Given the description of an element on the screen output the (x, y) to click on. 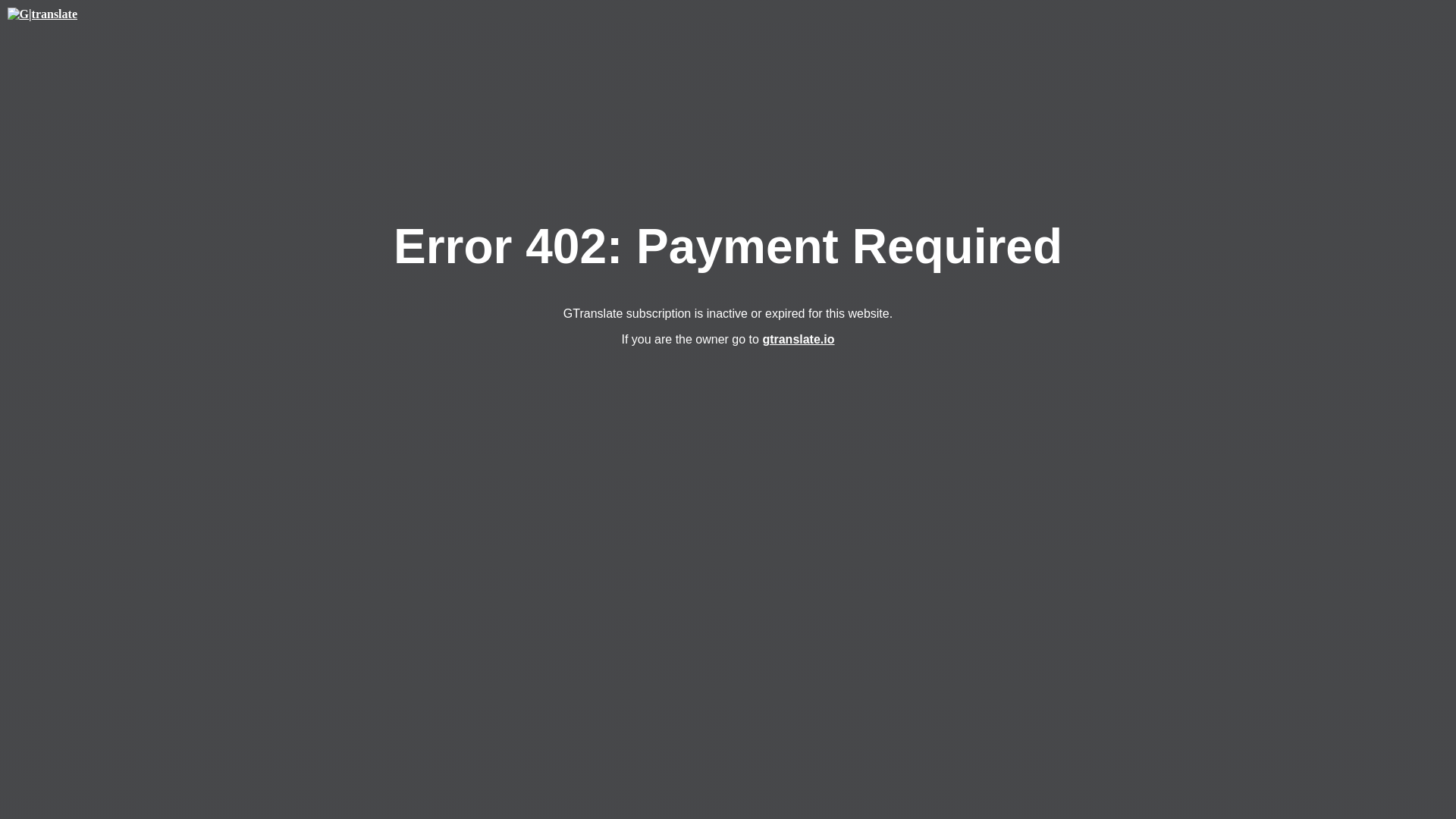
gtranslate.io (797, 338)
